Given the description of an element on the screen output the (x, y) to click on. 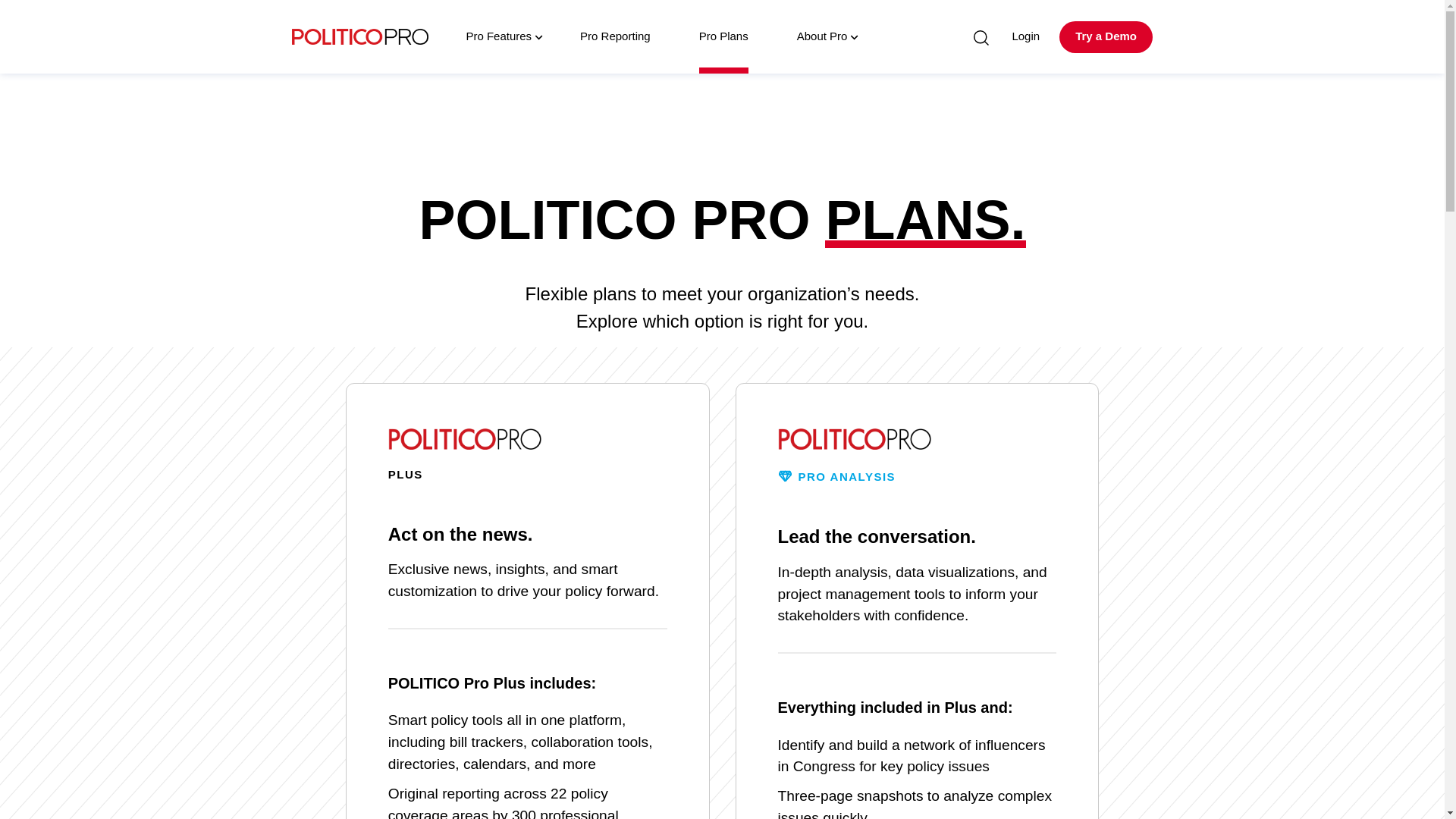
Login (1025, 36)
About Pro (822, 36)
Pro Reporting (615, 36)
Pro Plans (724, 36)
Pro Features (498, 36)
Try a Demo (1106, 37)
